Given the description of an element on the screen output the (x, y) to click on. 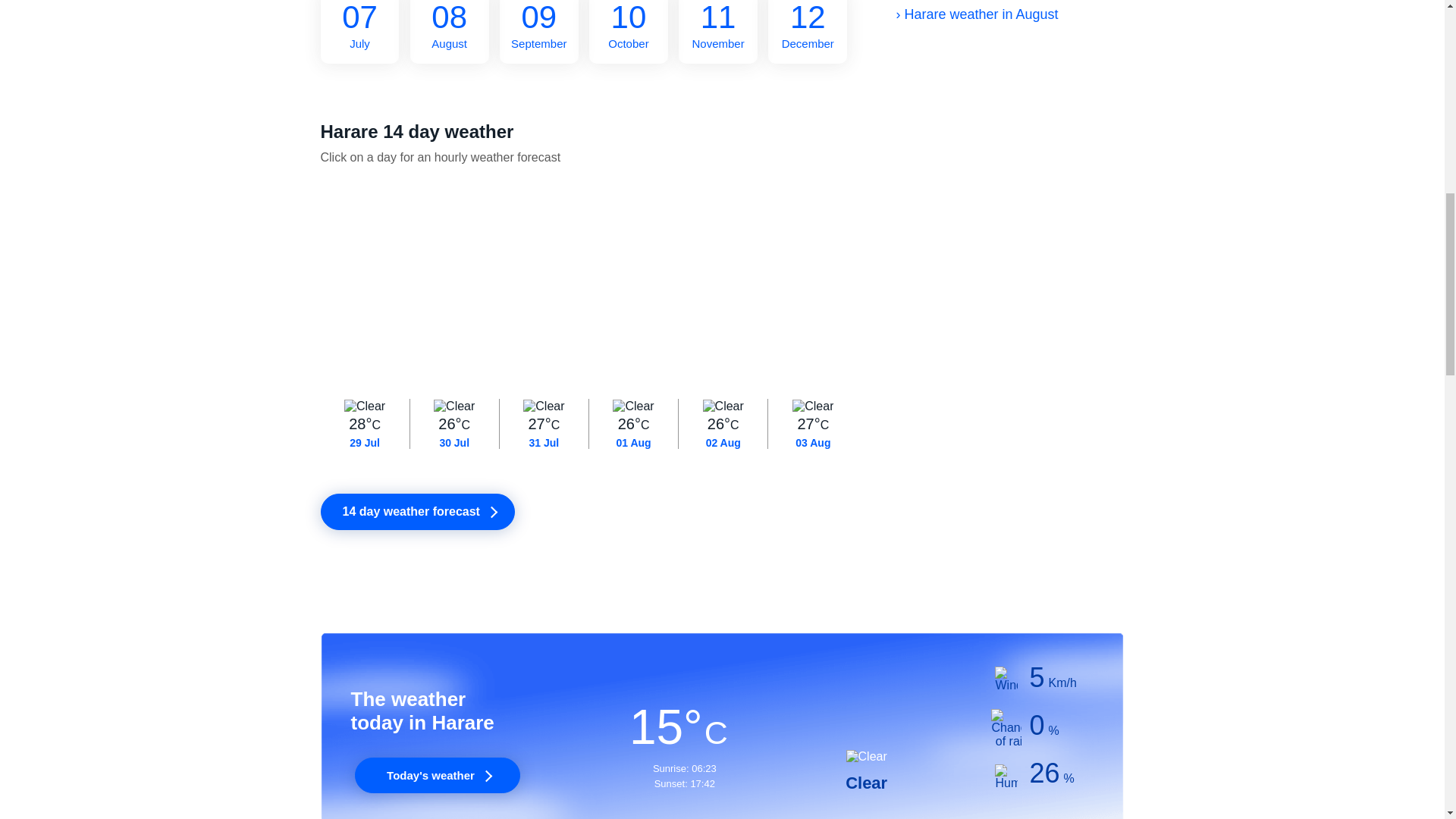
Harare 14 day weather (538, 31)
Harare weather in July (807, 31)
